Given the description of an element on the screen output the (x, y) to click on. 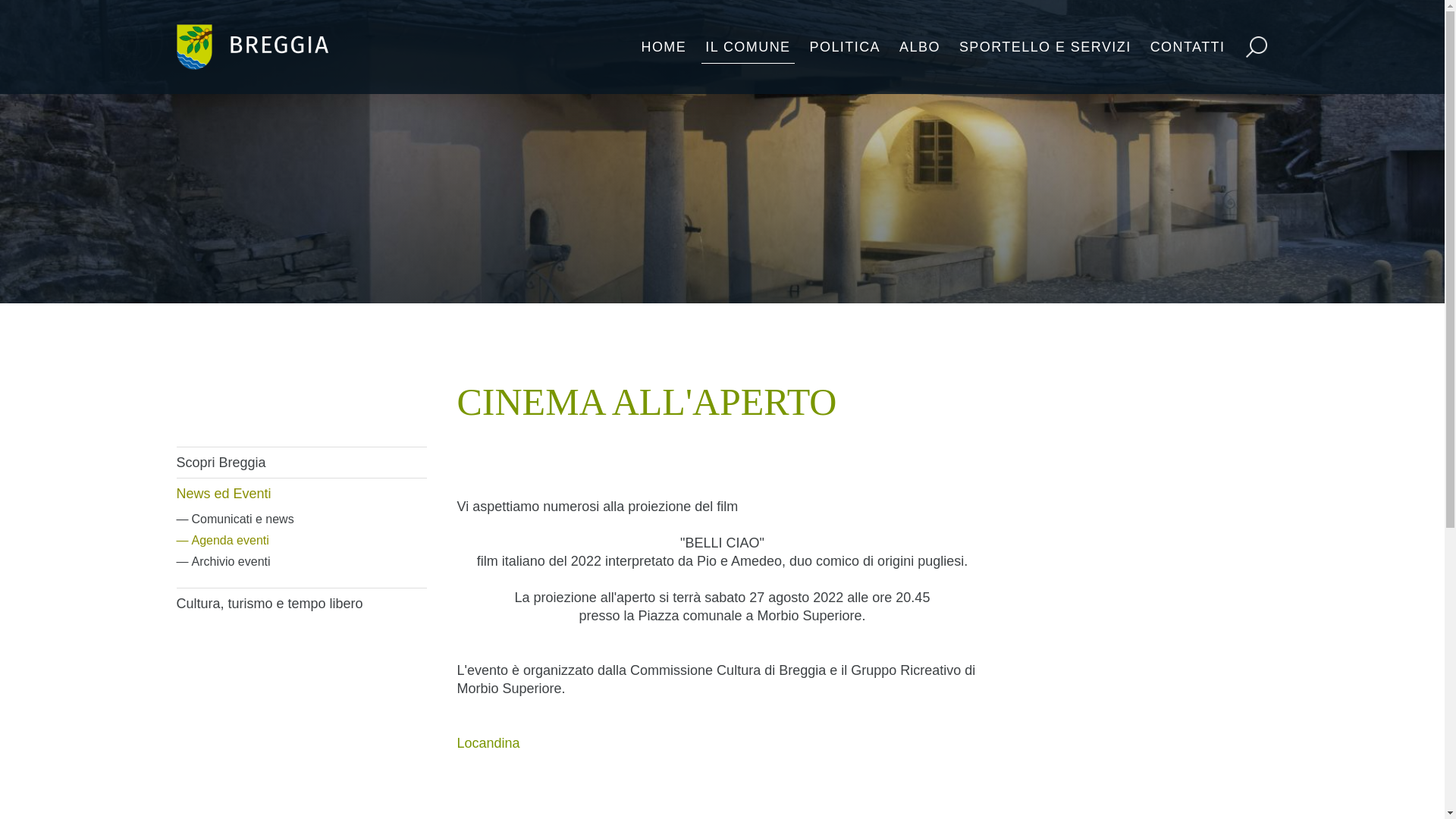
SPORTELLO E SERVIZI Element type: text (1045, 46)
Archivio eventi Element type: text (300, 561)
HOME Element type: text (663, 46)
CONTATTI Element type: text (1187, 46)
Cerca Element type: text (1229, 137)
IL COMUNE Element type: text (747, 46)
Vai alla home Element type: hover (251, 46)
POLITICA Element type: text (845, 46)
ALBO Element type: text (919, 46)
Cultura, turismo e tempo libero Element type: text (300, 603)
News ed Eventi Element type: text (300, 493)
Locandina Element type: text (487, 742)
Cerca Element type: text (1349, 82)
Comunicati e news Element type: text (300, 519)
Agenda eventi Element type: text (300, 540)
Scopri Breggia Element type: text (300, 462)
